Given the description of an element on the screen output the (x, y) to click on. 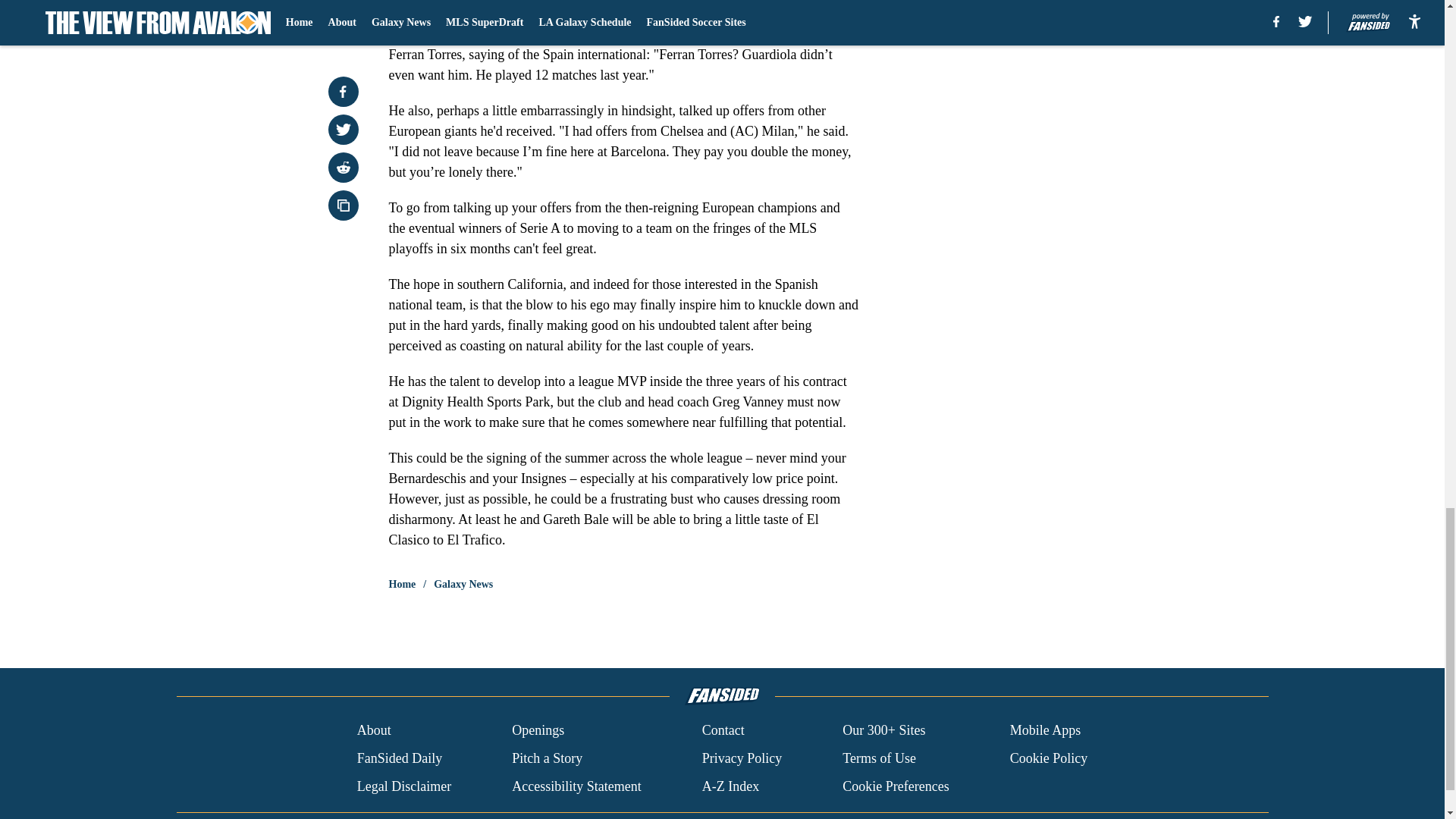
Cookie Policy (1048, 758)
FanSided Daily (399, 758)
Legal Disclaimer (403, 786)
Openings (538, 730)
Privacy Policy (742, 758)
Cookie Preferences (896, 786)
Accessibility Statement (576, 786)
Mobile Apps (1045, 730)
Contact (722, 730)
Galaxy News (463, 584)
